Given the description of an element on the screen output the (x, y) to click on. 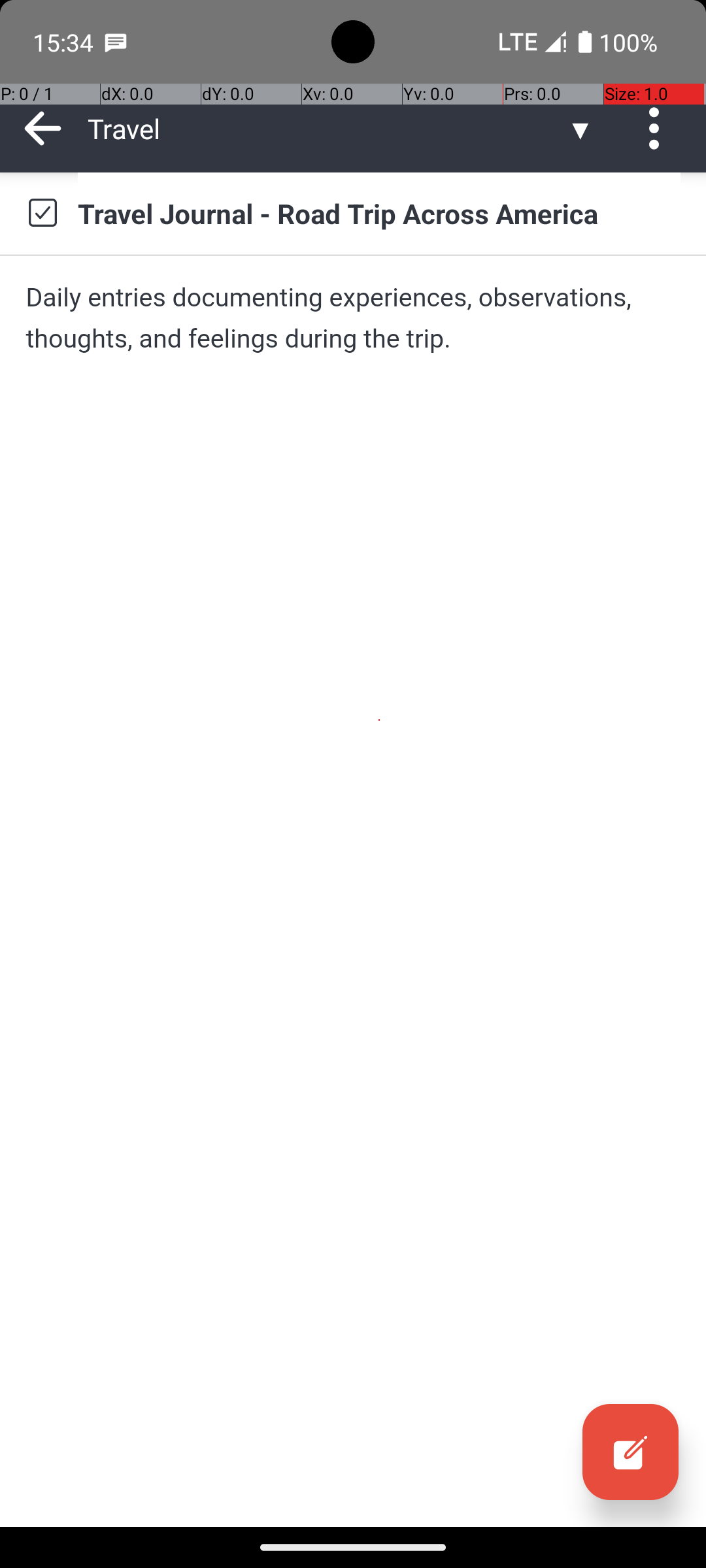
Travel Journal - Road Trip Across America Element type: android.widget.EditText (378, 213)
Travel Element type: android.widget.TextView (326, 128)
Daily entries documenting experiences, observations, thoughts, and feelings during the trip. Element type: android.widget.TextView (352, 317)
